Given the description of an element on the screen output the (x, y) to click on. 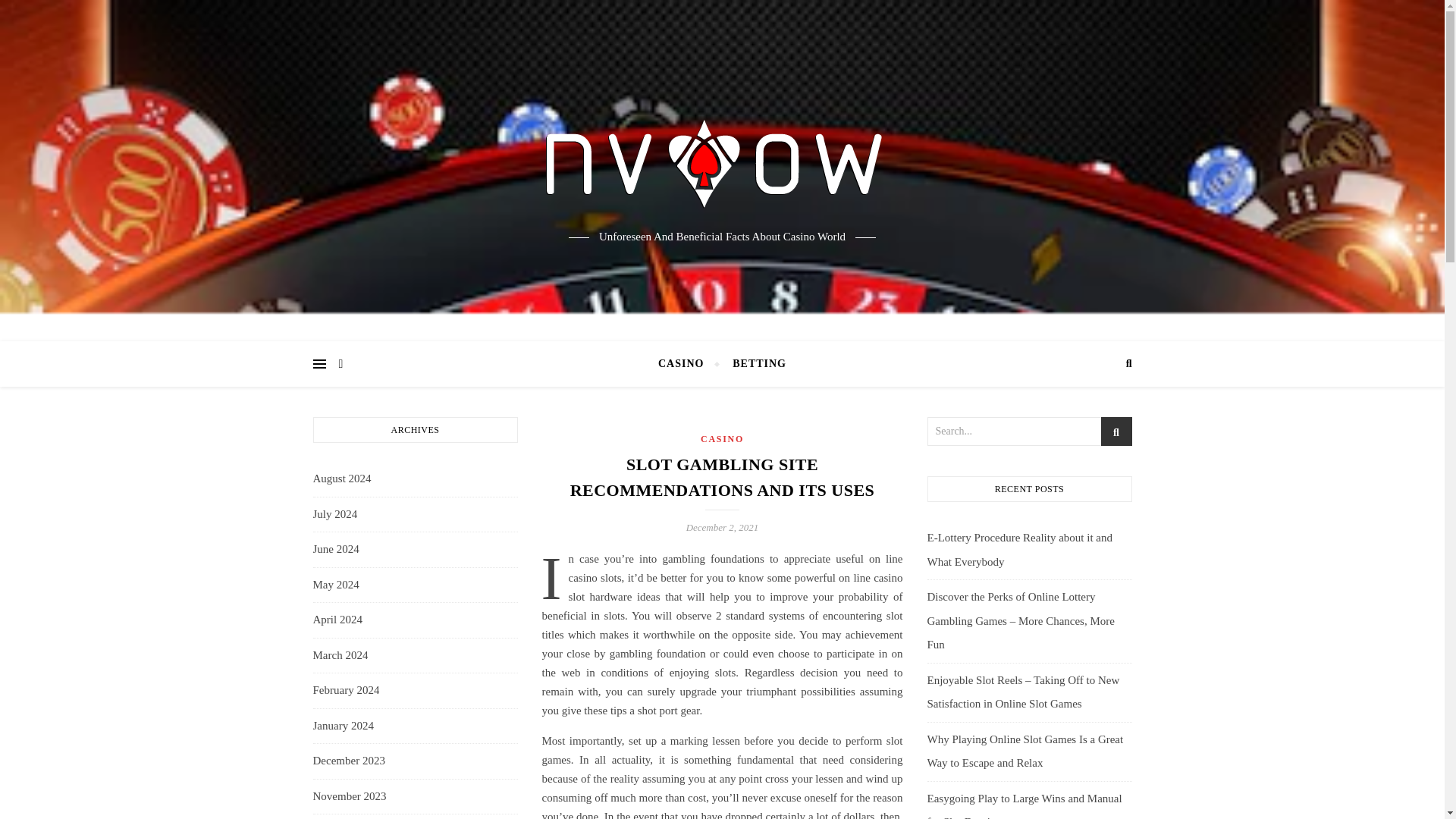
January 2024 (342, 726)
April 2024 (337, 620)
May 2024 (335, 585)
BETTING (752, 363)
November 2023 (349, 795)
July 2024 (334, 514)
CASINO (687, 363)
February 2024 (345, 690)
March 2024 (340, 654)
December 2023 (348, 761)
